Given the description of an element on the screen output the (x, y) to click on. 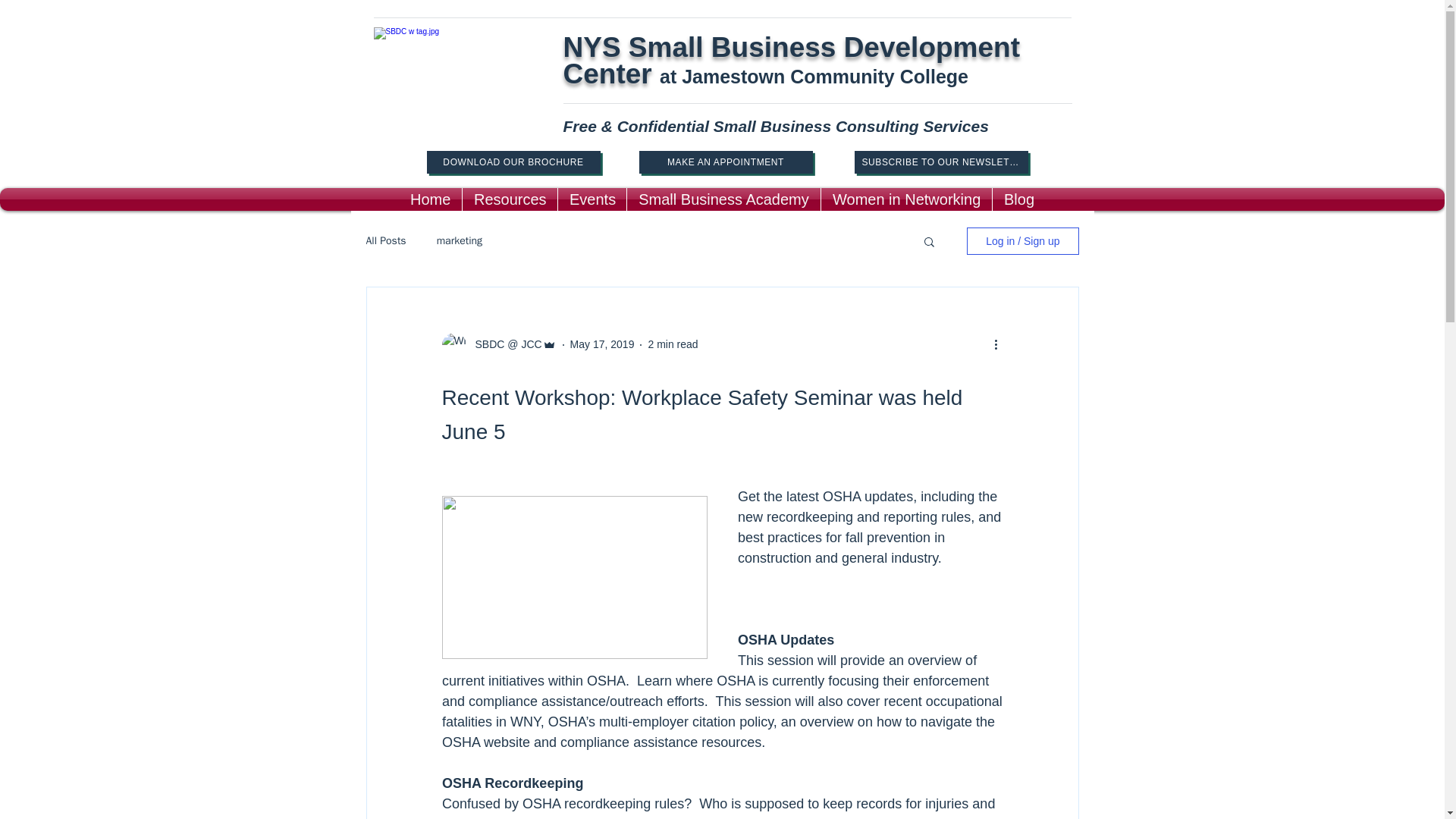
MAKE AN APPOINTMENT (725, 161)
marketing (458, 241)
Resources (510, 199)
SUBSCRIBE TO OUR NEWSLETTER (940, 161)
DOWNLOAD OUR BROCHURE (512, 161)
Blog (1018, 199)
Events (591, 199)
May 17, 2019 (602, 344)
Home (429, 199)
Women in Networking (906, 199)
2 min read (672, 344)
All Posts (385, 241)
Small Business Academy (724, 199)
